Given the description of an element on the screen output the (x, y) to click on. 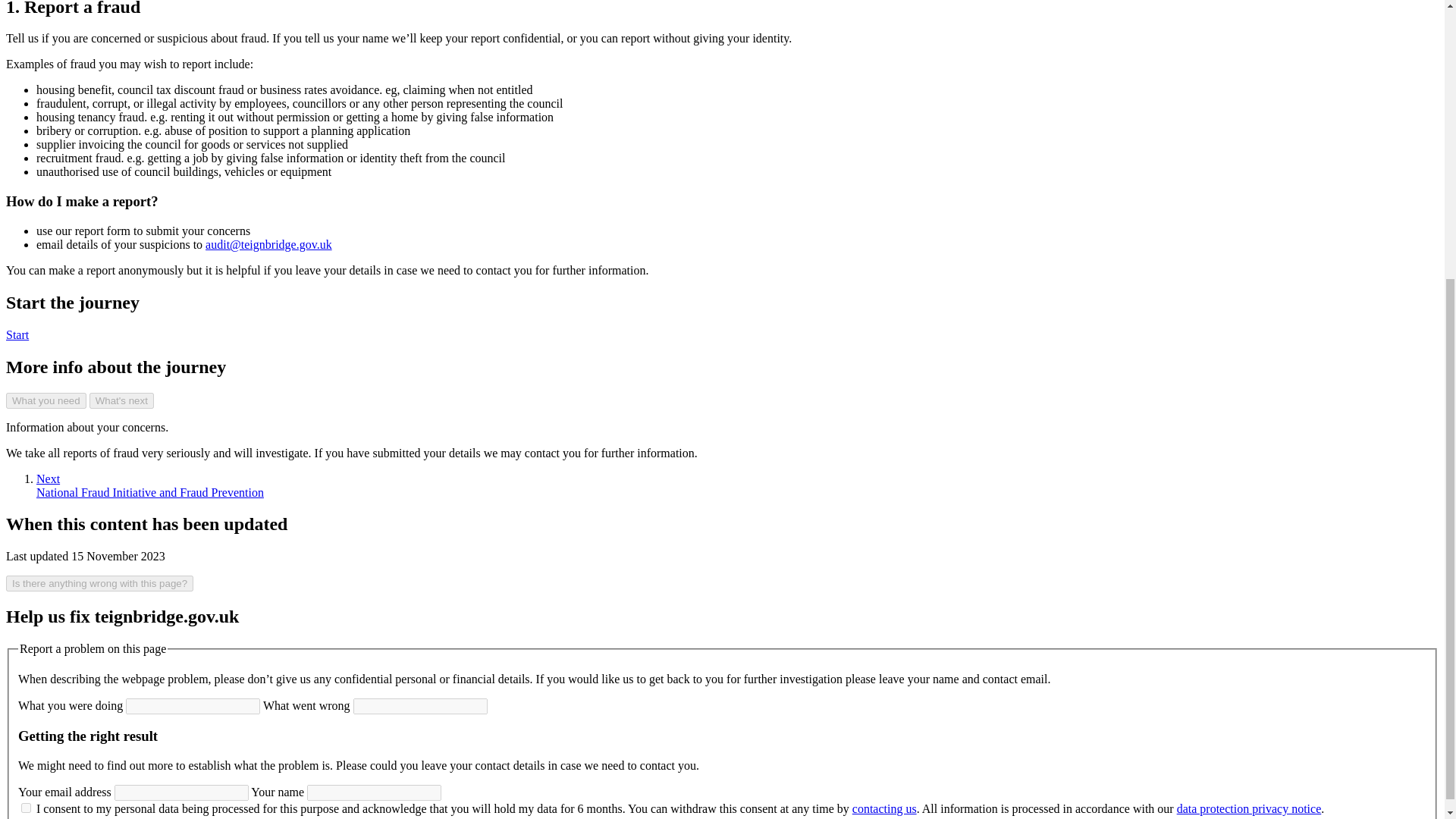
Start (149, 484)
data protection privacy notice (17, 334)
What you need (1249, 808)
on (45, 400)
Report a fraud through our online form (25, 808)
Is there anything wrong with this page? (17, 334)
contacting us (99, 583)
What's next (884, 808)
